Given the description of an element on the screen output the (x, y) to click on. 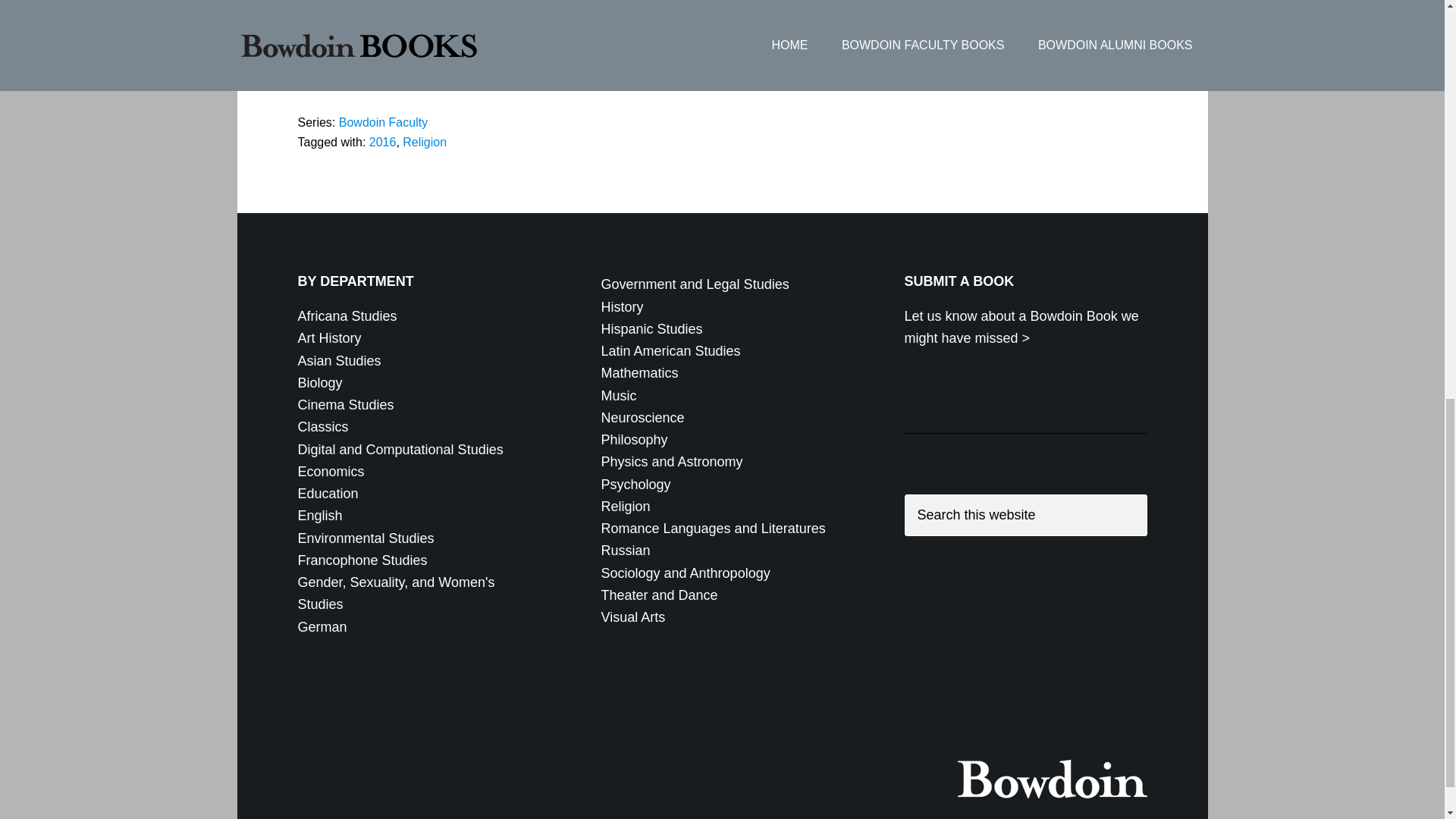
German (321, 626)
Africana Studies (346, 315)
Mathematics (638, 372)
Theater and Dance (658, 595)
Environmental Studies (365, 538)
Religion (624, 506)
Asian Studies (338, 360)
English (319, 515)
Government and Legal Studies (694, 283)
Latin American Studies (669, 350)
